Given the description of an element on the screen output the (x, y) to click on. 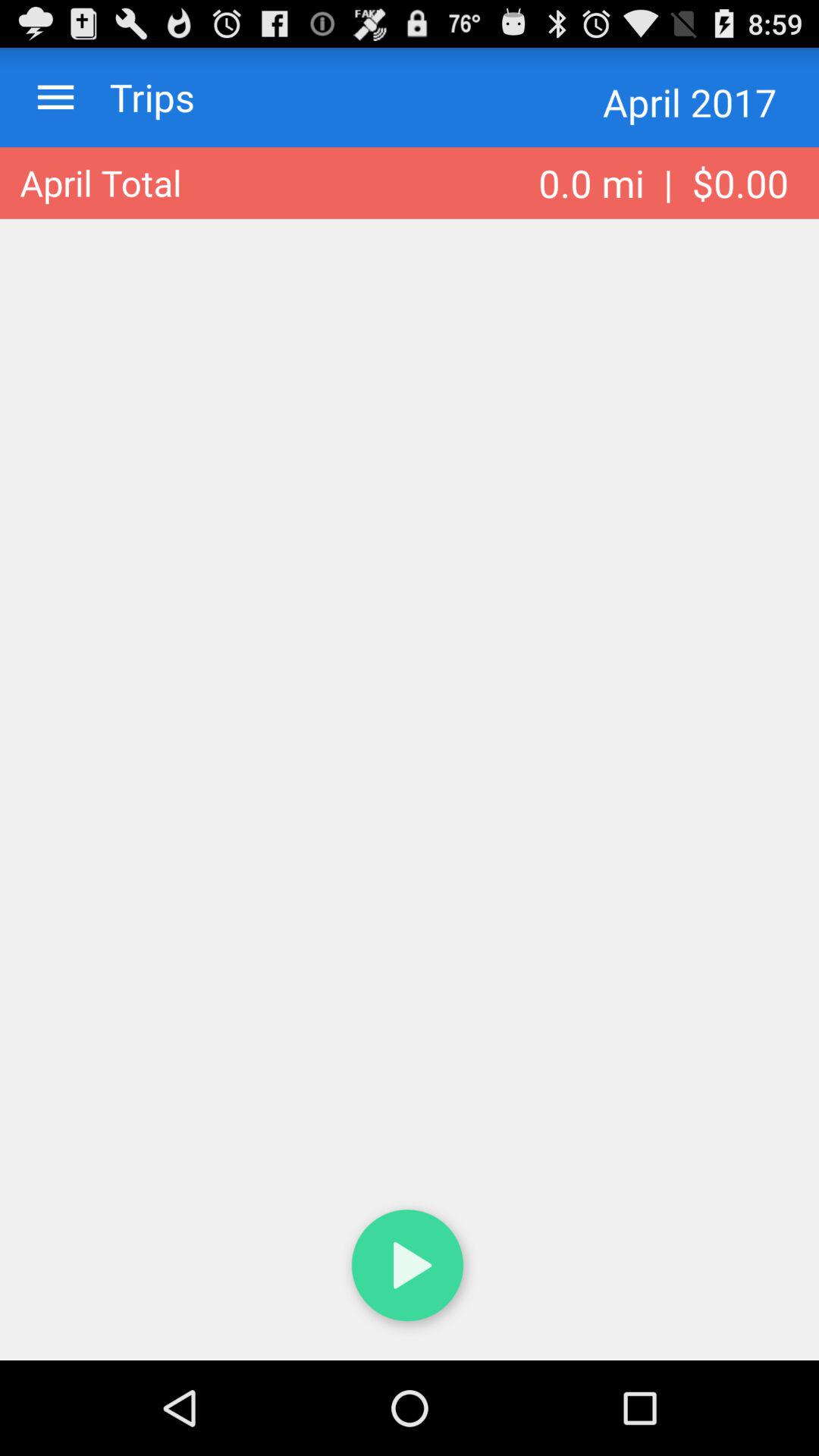
go to menu (55, 97)
